Given the description of an element on the screen output the (x, y) to click on. 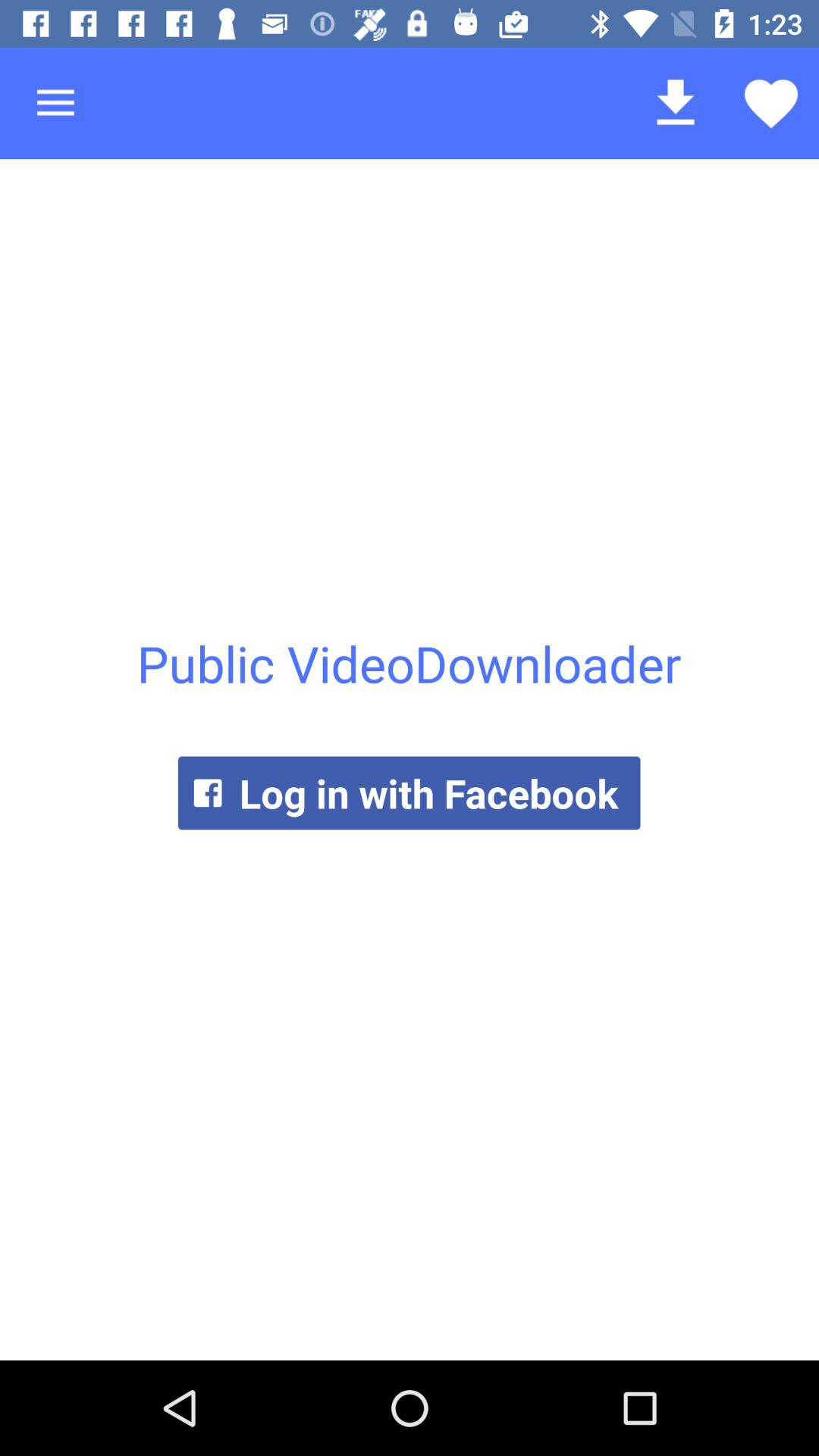
open the icon above the public videodownloader icon (675, 103)
